Given the description of an element on the screen output the (x, y) to click on. 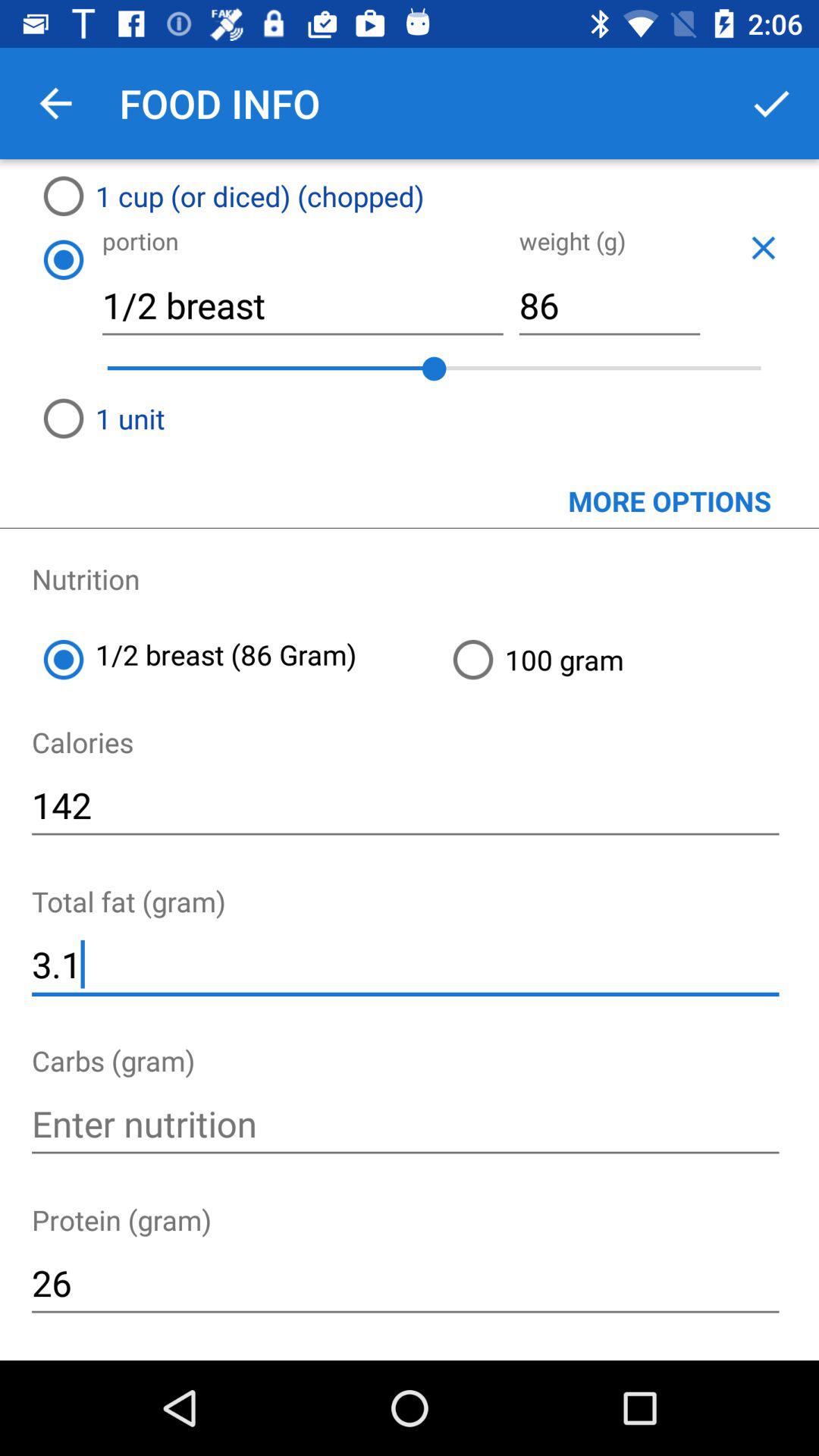
press item above the carbs (gram) (405, 965)
